Given the description of an element on the screen output the (x, y) to click on. 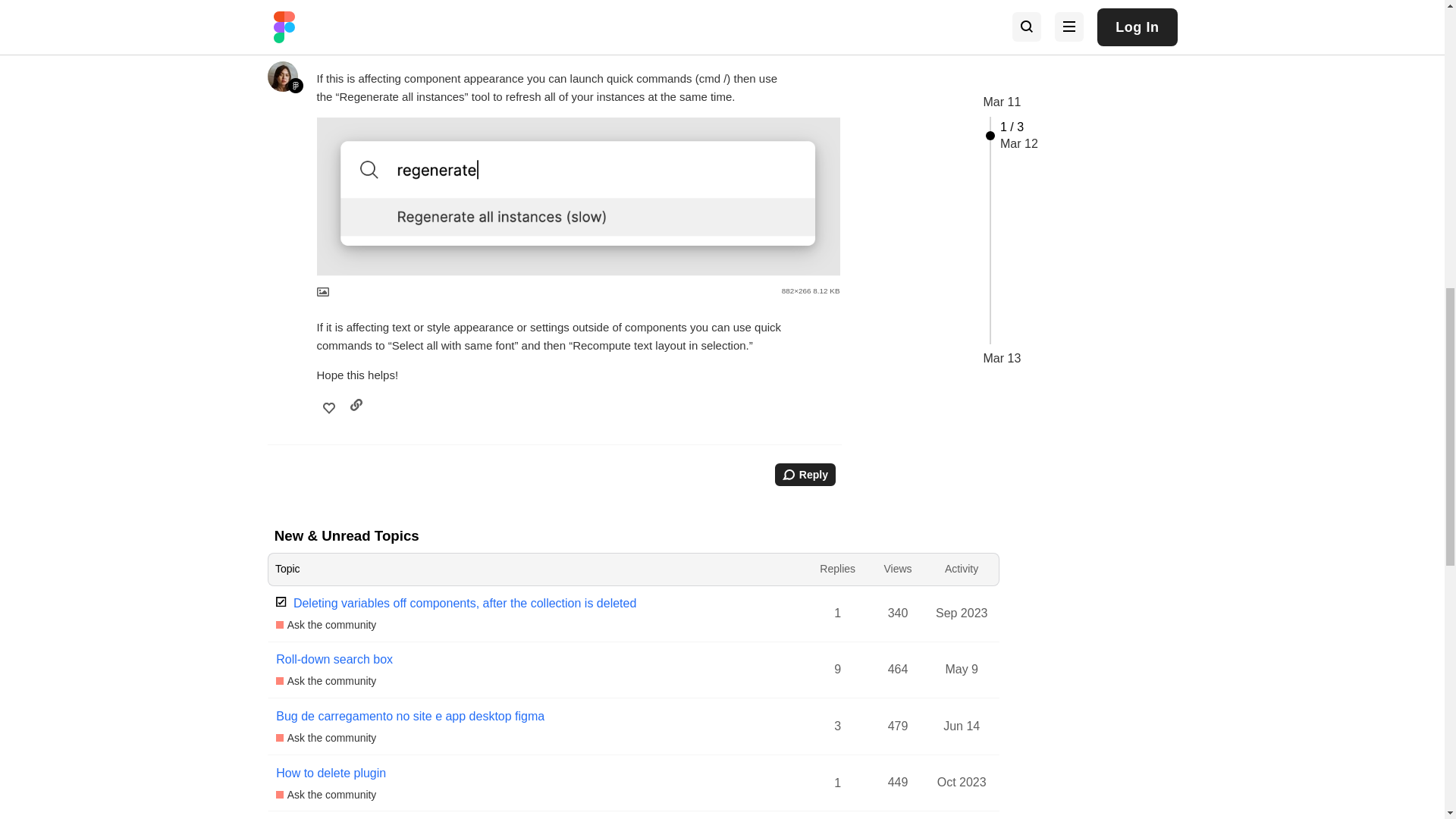
Ask the community (325, 680)
Sep 2023 (961, 611)
Roll-down search box (334, 659)
Reply (804, 474)
Ask the community (325, 624)
